Given the description of an element on the screen output the (x, y) to click on. 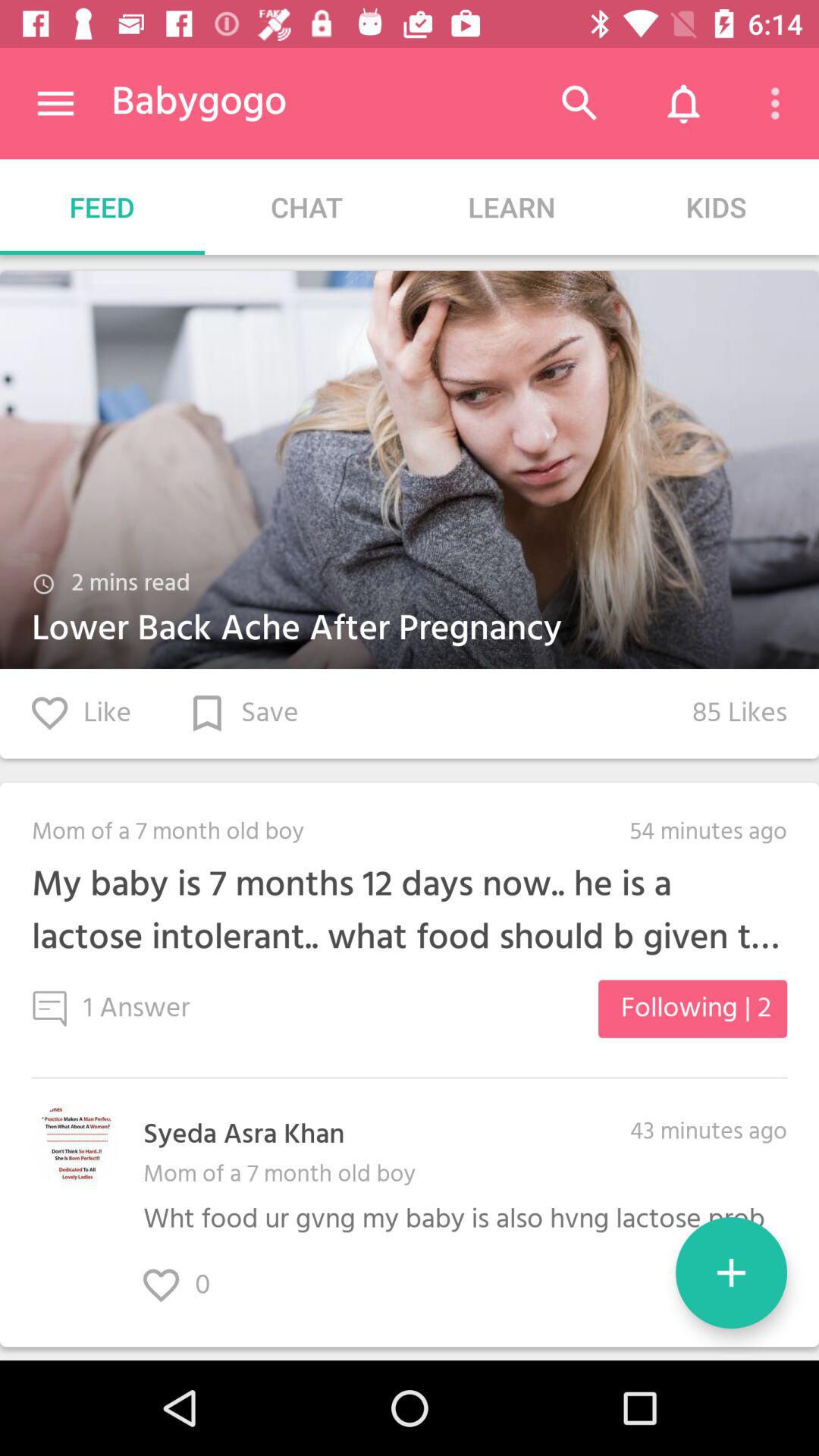
click the icon to the left of babygogo (55, 103)
